Given the description of an element on the screen output the (x, y) to click on. 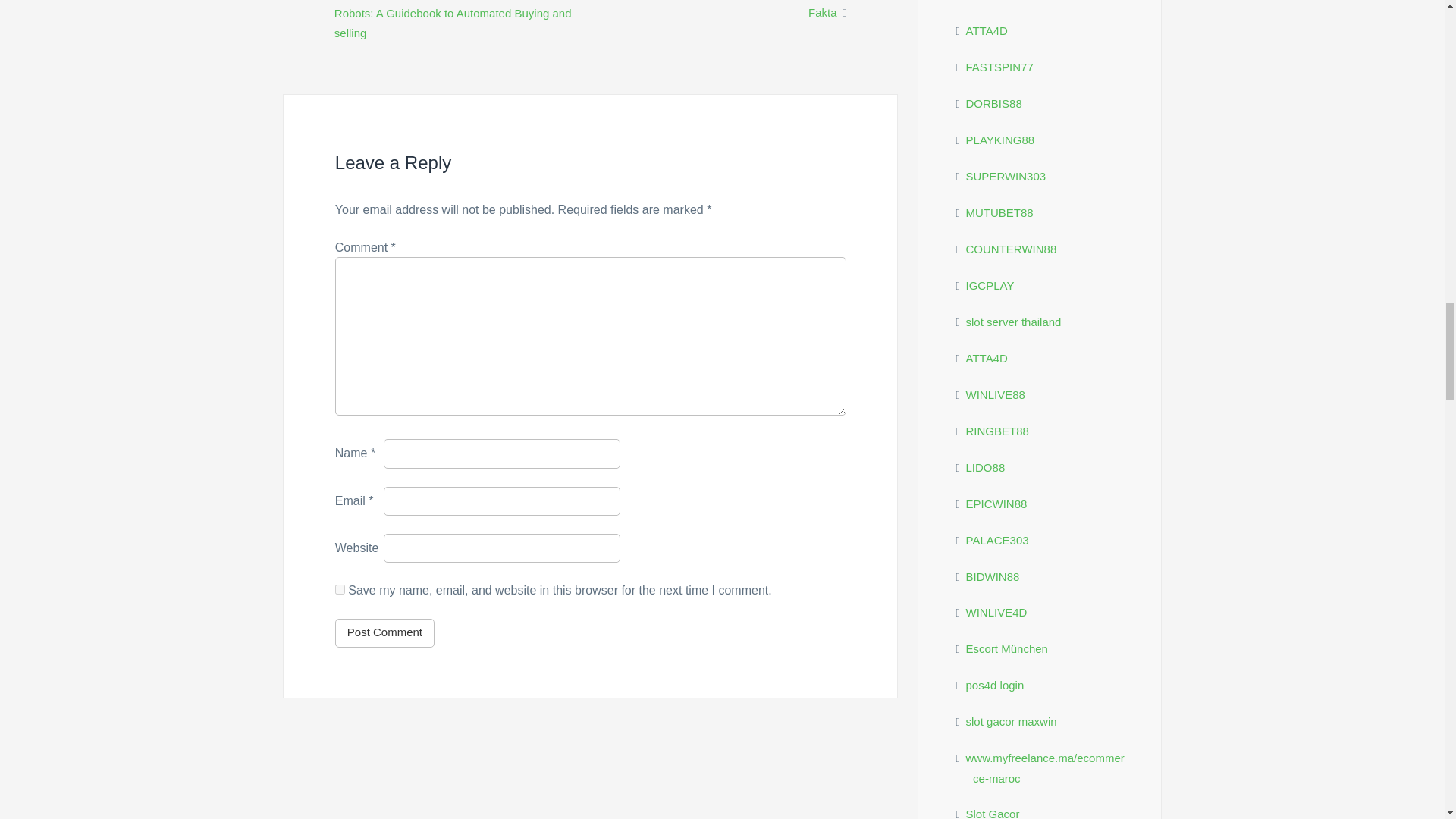
Laporan JUDI ONLINE TERBAIK: Statistik dan Fakta (729, 9)
Post Comment (383, 633)
yes (339, 589)
Post Comment (383, 633)
